Given the description of an element on the screen output the (x, y) to click on. 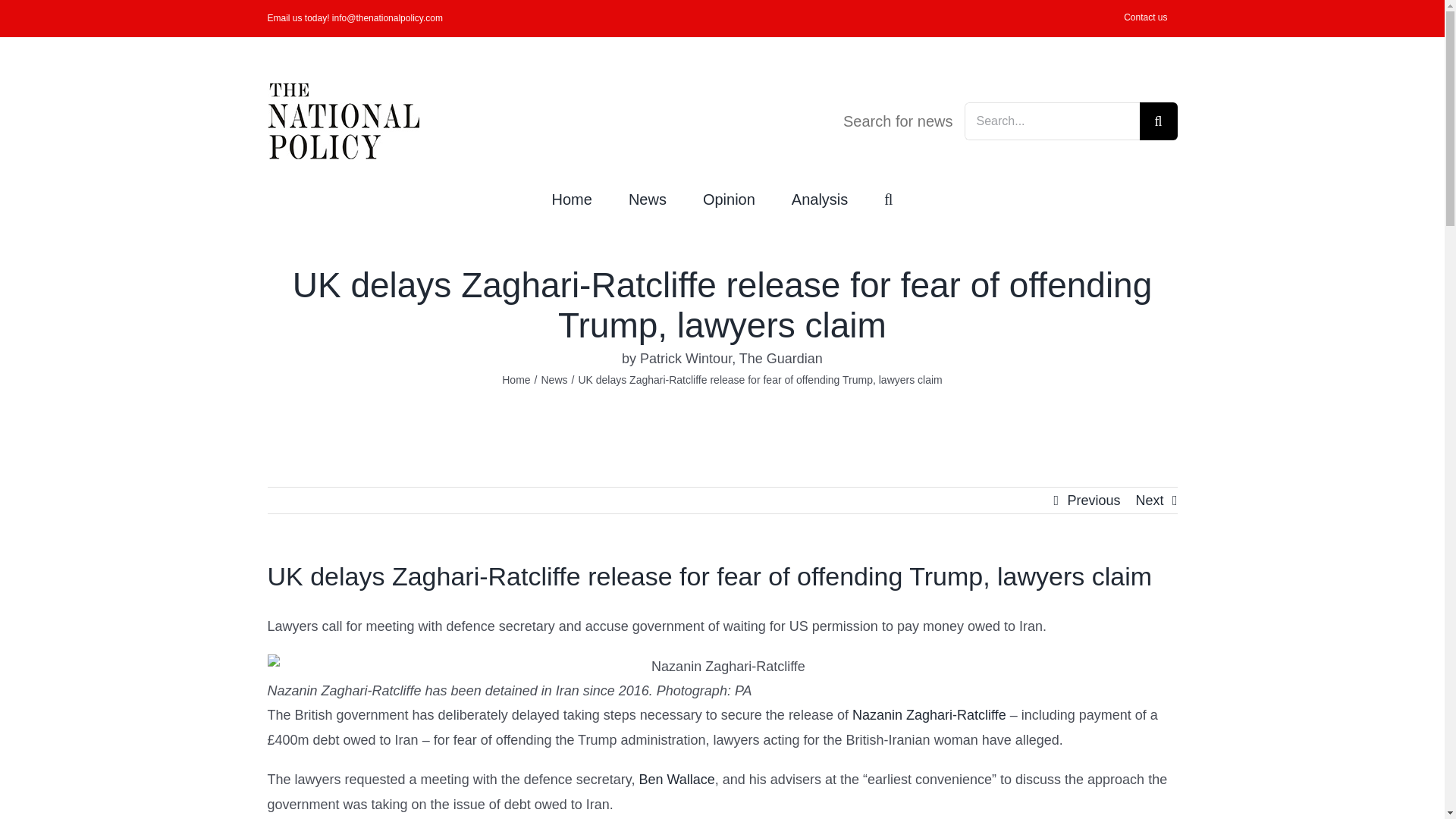
Next (1149, 500)
Opinion (729, 197)
News (553, 379)
Nazanin Zaghari-Ratcliffe (928, 714)
Home (515, 379)
Previous (1093, 500)
News (647, 197)
Home (571, 197)
Ben Wallace (676, 779)
Contact us (1144, 18)
Analysis (819, 197)
